Given the description of an element on the screen output the (x, y) to click on. 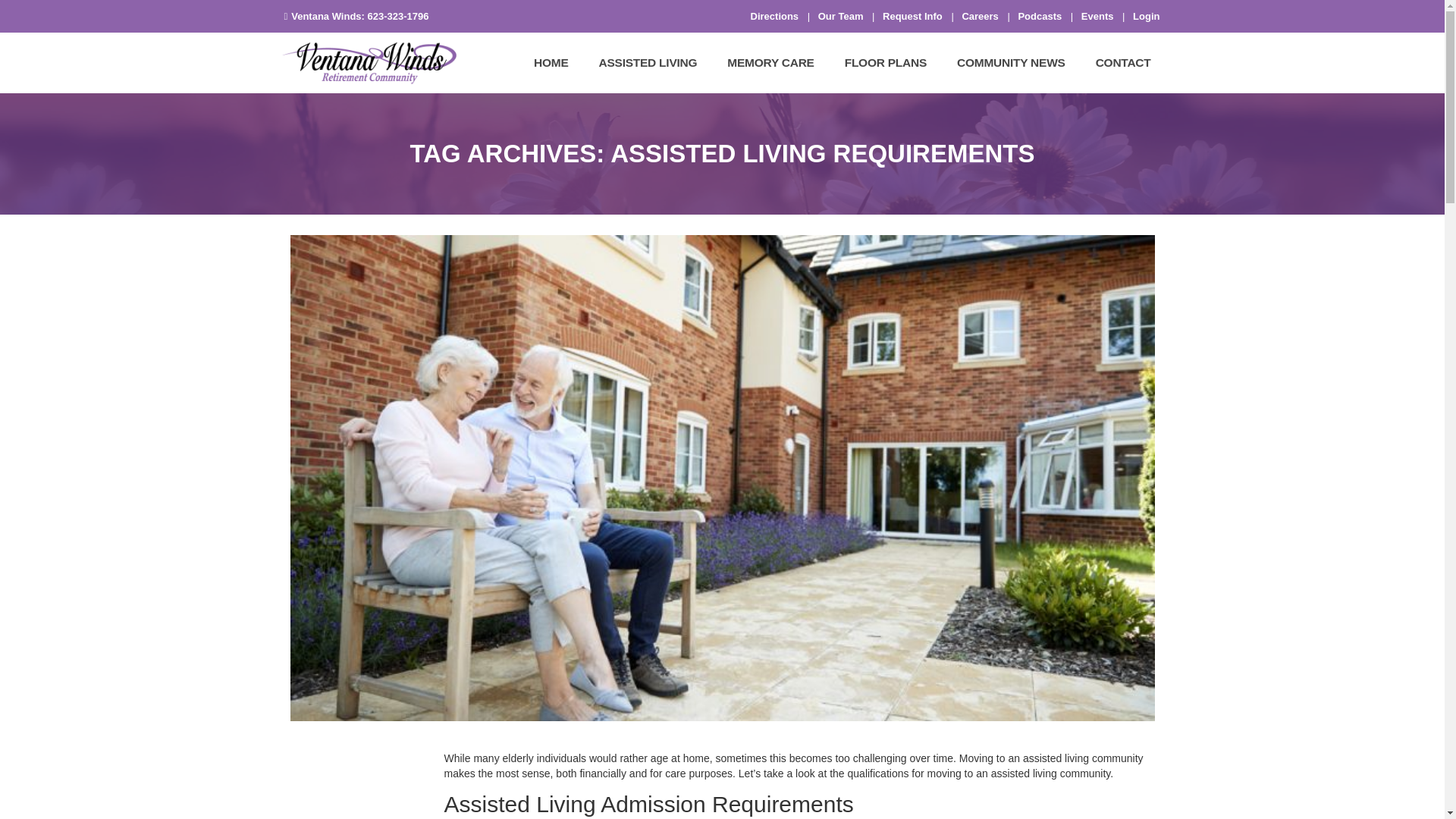
Login (1145, 16)
Request Info (912, 16)
Our Team (840, 16)
Careers (978, 16)
Directions (775, 16)
623-323-1796 (398, 16)
FLOOR PLANS (885, 62)
Ventana Winds Retirement Community (369, 62)
COMMUNITY NEWS (1011, 62)
Podcasts (1039, 16)
CONTACT (1123, 62)
Events (1097, 16)
HOME (550, 62)
